Given the description of an element on the screen output the (x, y) to click on. 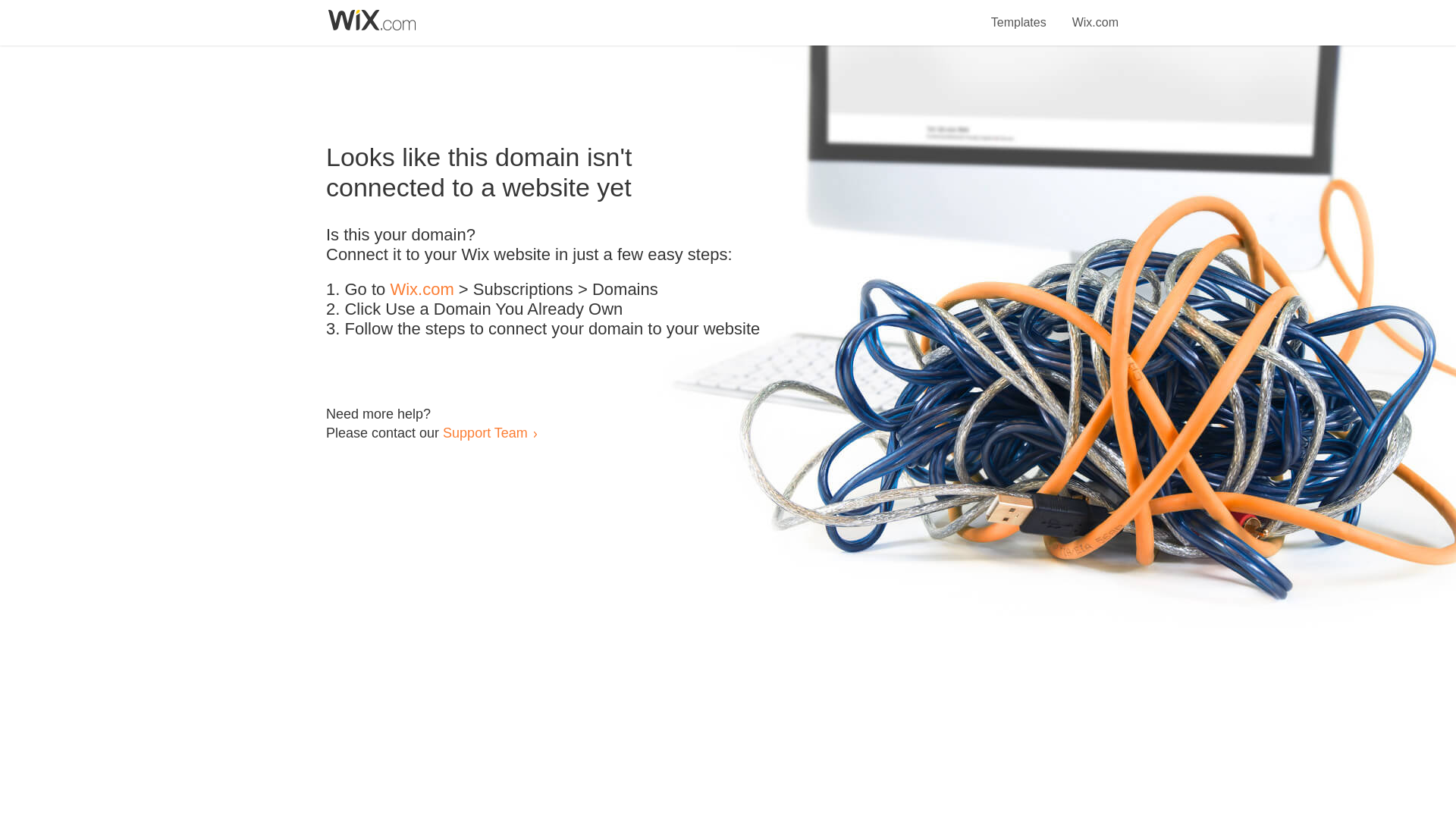
Wix.com (421, 289)
Support Team (484, 432)
Templates (1018, 14)
Wix.com (1095, 14)
